Given the description of an element on the screen output the (x, y) to click on. 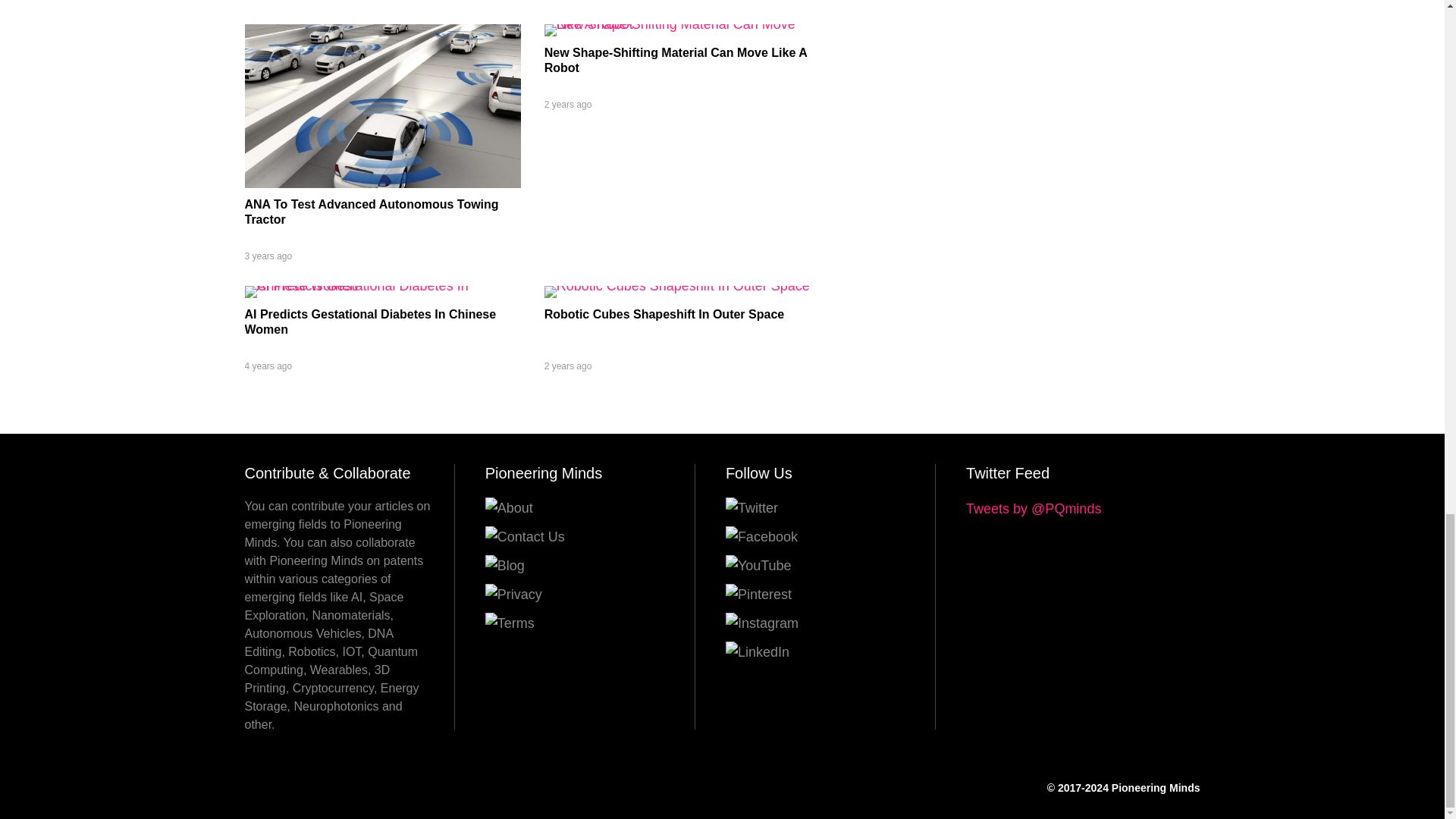
AI Predicts Gestational Diabetes In Chinese Women (370, 321)
ANA To Test Advanced Autonomous Towing Tractor (370, 212)
AI Predicts Gestational Diabetes In Chinese Women (382, 285)
Robotic Cubes Shapeshift In Outer Space (676, 285)
New Shape-Shifting Material Can Move Like A Robot (682, 23)
New Shape-Shifting Material Can Move Like A Robot (675, 59)
Robotic Cubes Shapeshift In Outer Space (664, 314)
ANA To Test Advanced Autonomous Towing Tractor (382, 183)
